Given the description of an element on the screen output the (x, y) to click on. 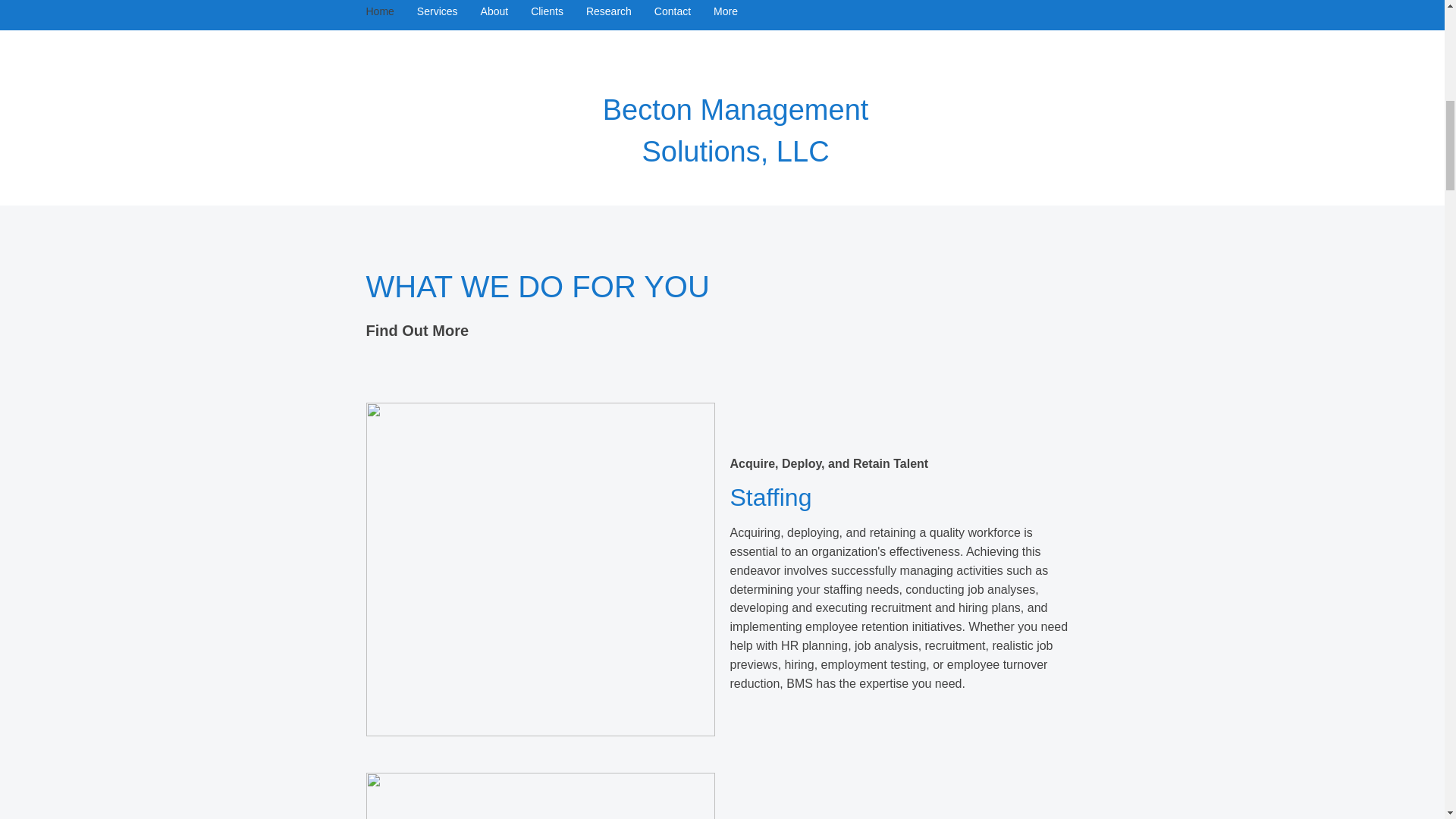
Data on a Touch Pad (539, 569)
Successful Manager (539, 796)
